Given the description of an element on the screen output the (x, y) to click on. 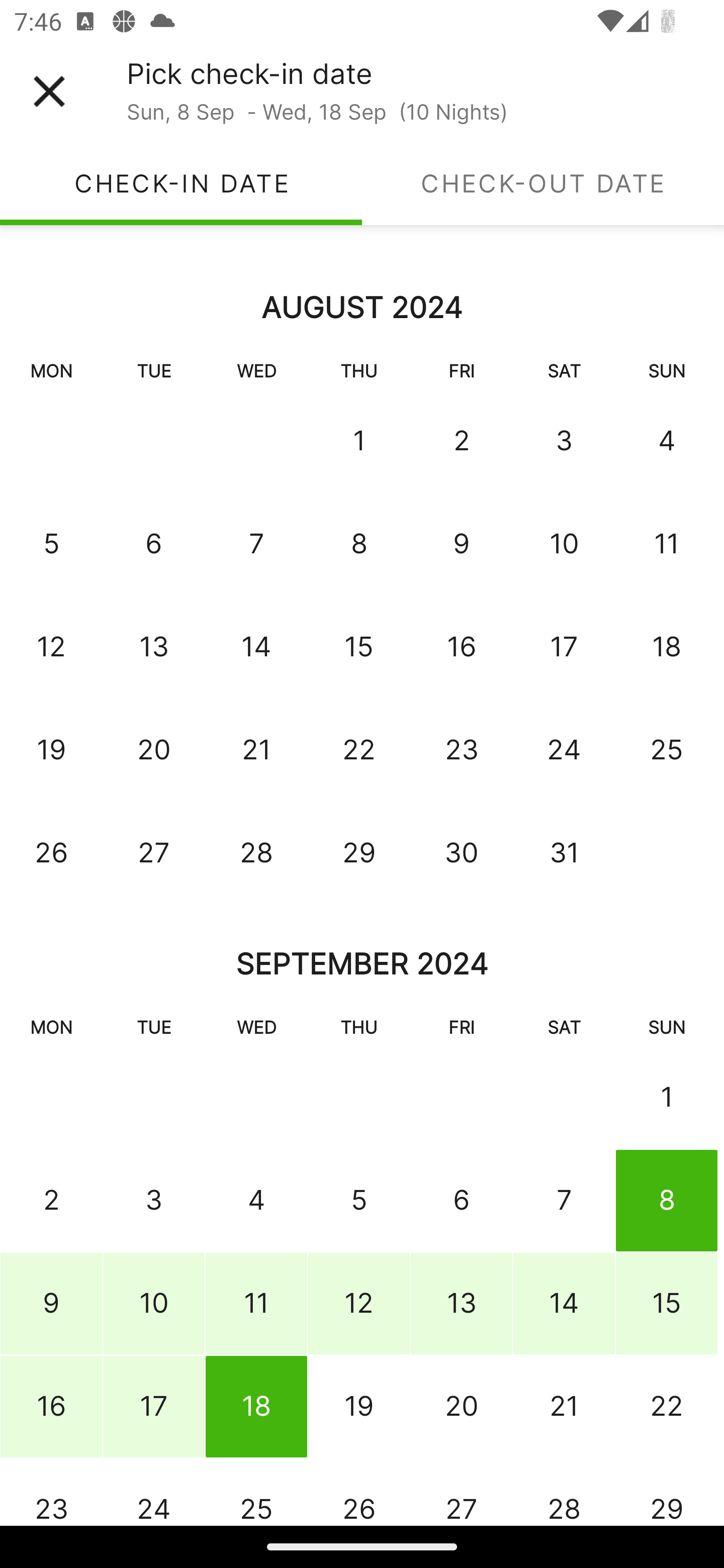
Check-out Date CHECK-OUT DATE (543, 183)
